Given the description of an element on the screen output the (x, y) to click on. 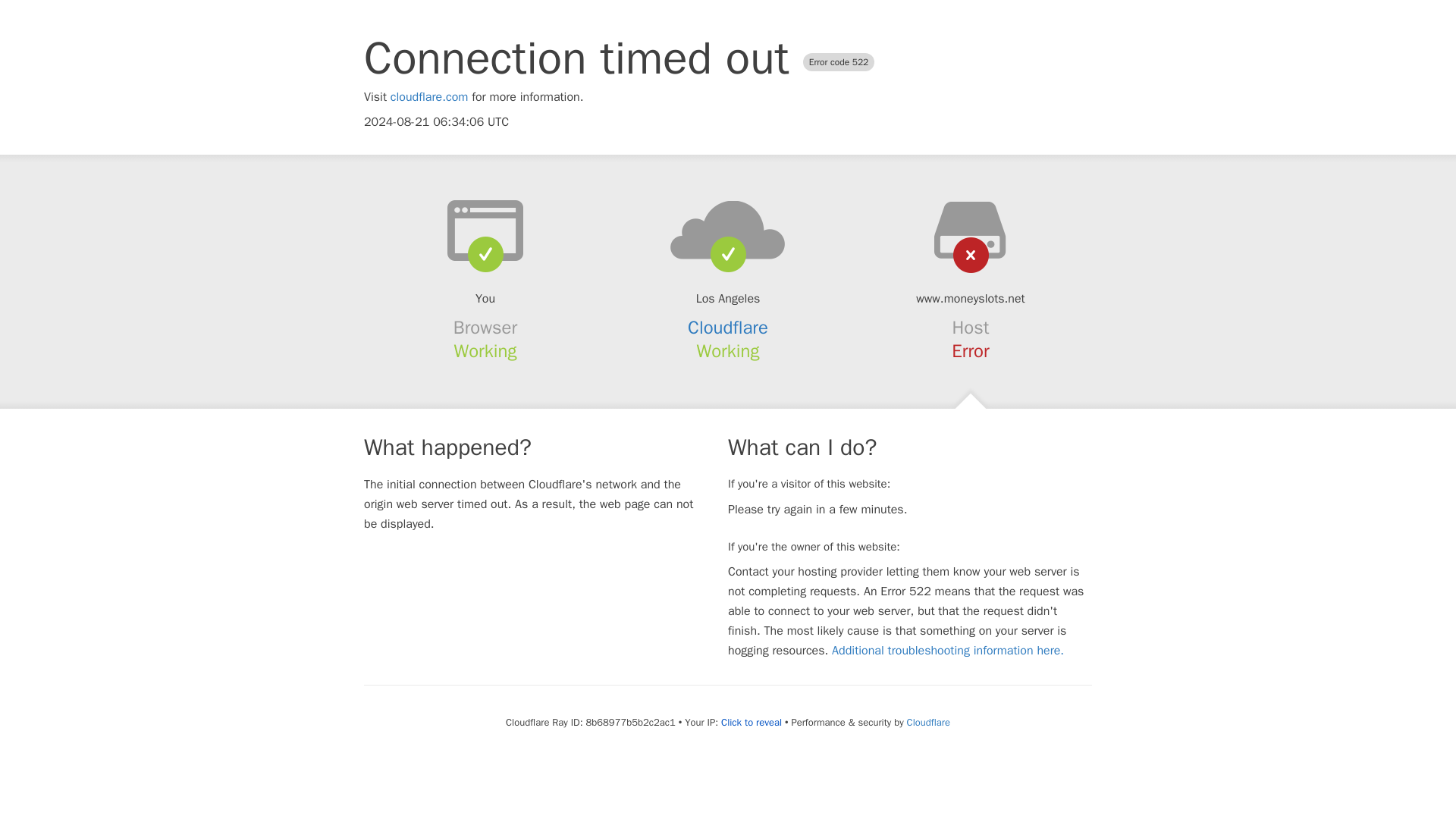
Cloudflare (727, 327)
Additional troubleshooting information here. (947, 650)
cloudflare.com (429, 96)
Cloudflare (928, 721)
Click to reveal (750, 722)
